Given the description of an element on the screen output the (x, y) to click on. 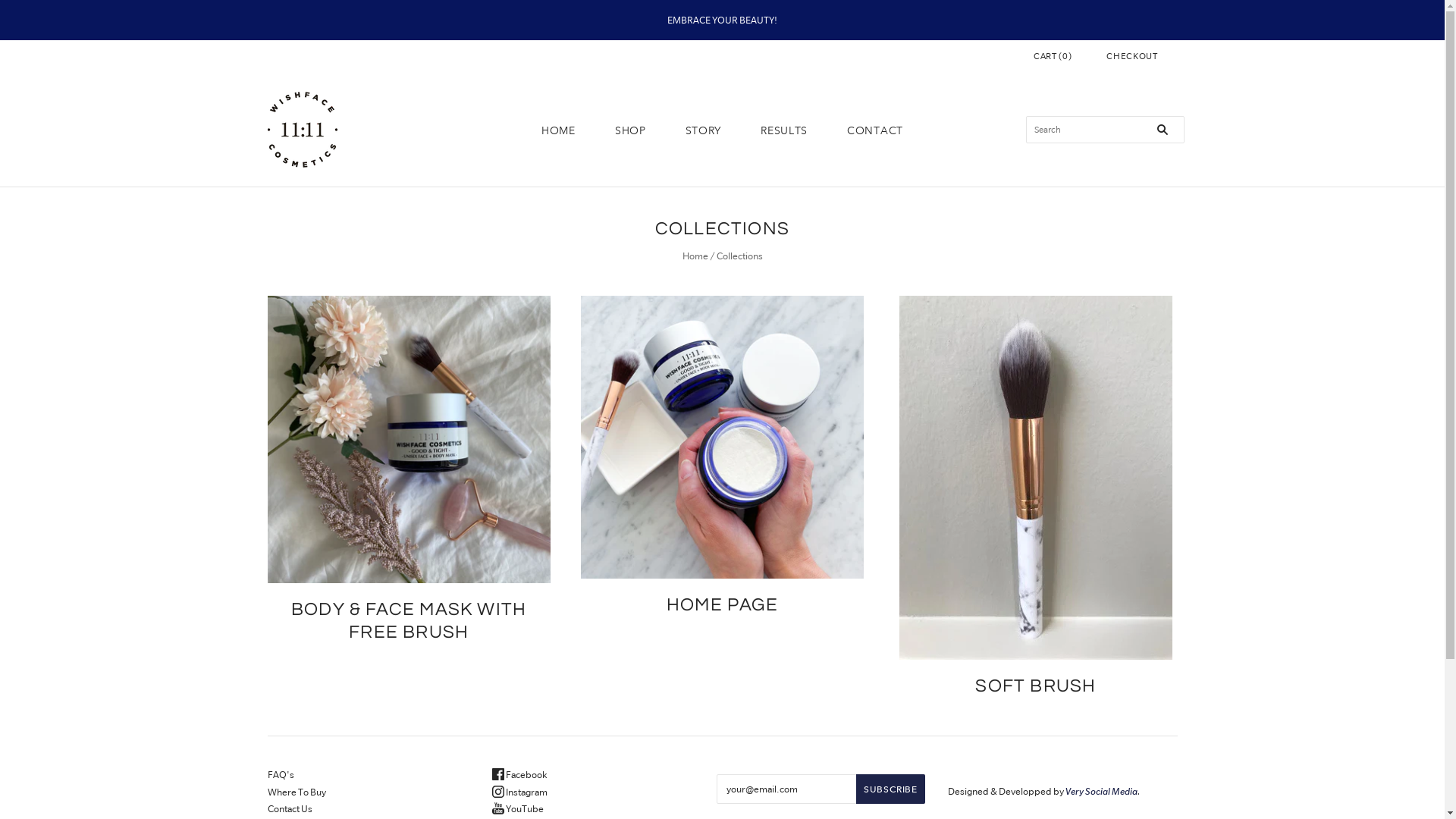
BODY & FACE MASK WITH FREE BRUSH Element type: text (408, 620)
Very Social Media Element type: text (1101, 791)
SHOP Element type: text (630, 130)
SOFT BRUSH Element type: text (1035, 685)
HOME PAGE Element type: text (722, 604)
Subscribe Element type: text (890, 788)
CART (0) Element type: text (1052, 56)
RESULTS Element type: text (783, 130)
Where To Buy Element type: text (295, 791)
EMBRACE YOUR BEAUTY! Element type: text (722, 20)
Home Element type: text (695, 255)
Contact Us Element type: text (288, 808)
CHECKOUT Element type: text (1131, 56)
YouTube Element type: text (517, 808)
STORY Element type: text (703, 130)
CONTACT Element type: text (874, 130)
Instagram Element type: text (519, 791)
Facebook Element type: text (519, 774)
FAQ's Element type: text (279, 774)
HOME Element type: text (558, 130)
